Given the description of an element on the screen output the (x, y) to click on. 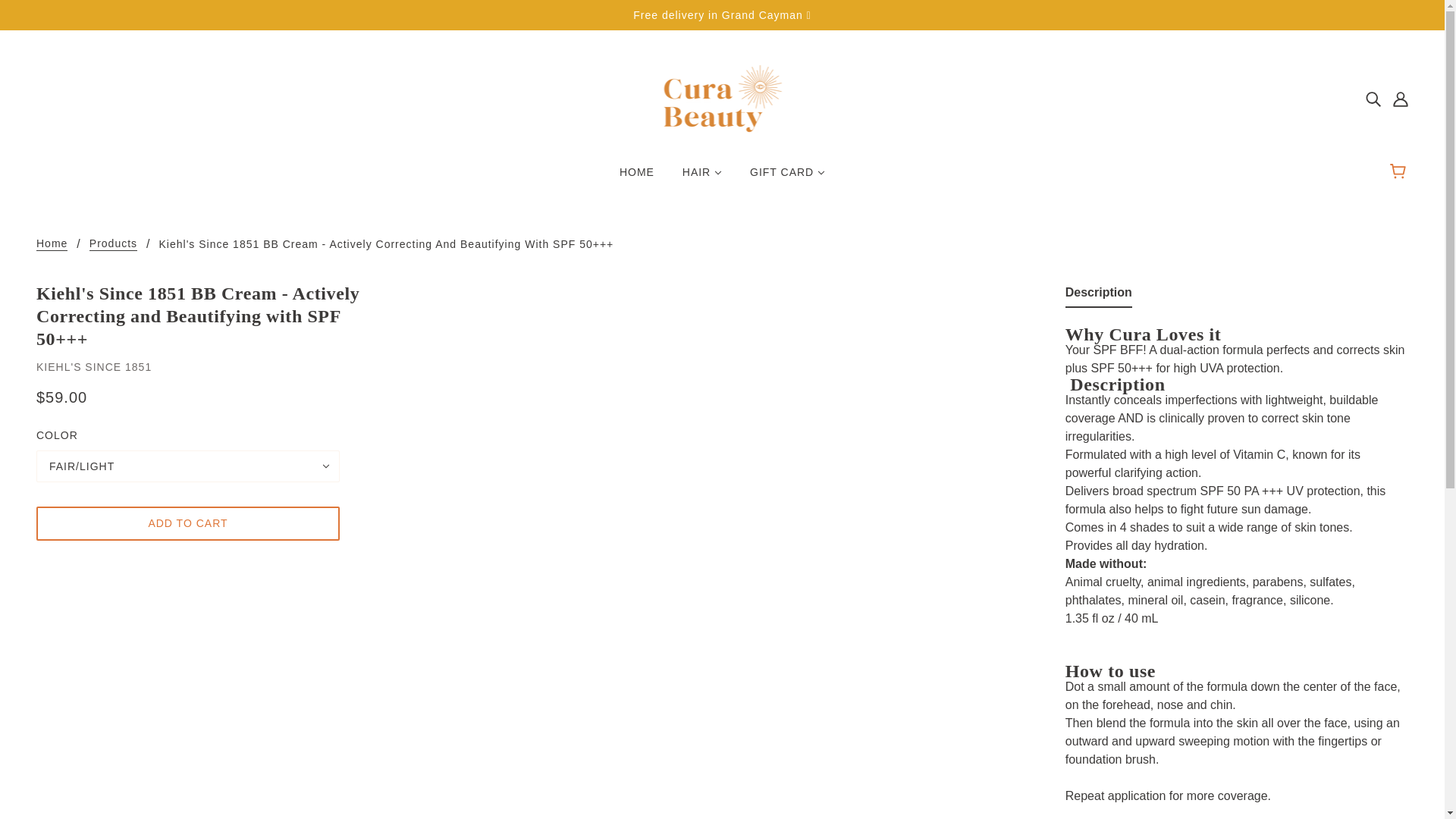
CURA Beauty (721, 97)
HAIR (701, 177)
KIEHL'S SINCE 1851 (93, 367)
Home (51, 244)
Products (112, 244)
GIFT CARD (787, 177)
HOME (636, 177)
